Given the description of an element on the screen output the (x, y) to click on. 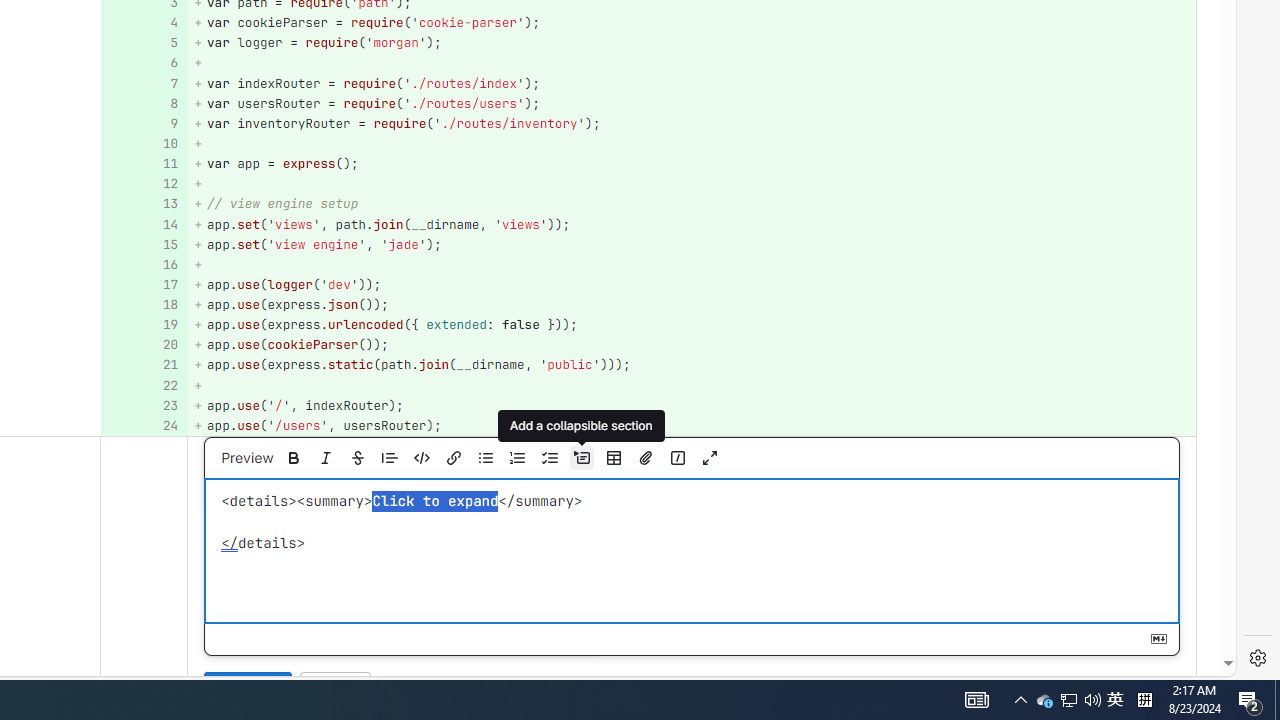
Add a comment to this line 20 (144, 344)
+ app.use('/', indexRouter);  (691, 405)
21 (141, 364)
Add bold text (Ctrl+B) (293, 457)
Add a comment to this line 16 (144, 264)
8 (141, 102)
Add a comment to this line 5 (144, 43)
Preview (246, 457)
Insert a quote (389, 457)
Add a comment to this line 17 (144, 284)
Add a comment to this line 21 (144, 364)
Add a comment to this line 9 (144, 123)
+ var inventoryRouter = require('./routes/inventory');  (691, 123)
Class: s16 gl-icon gl-button-icon  (1158, 639)
